Given the description of an element on the screen output the (x, y) to click on. 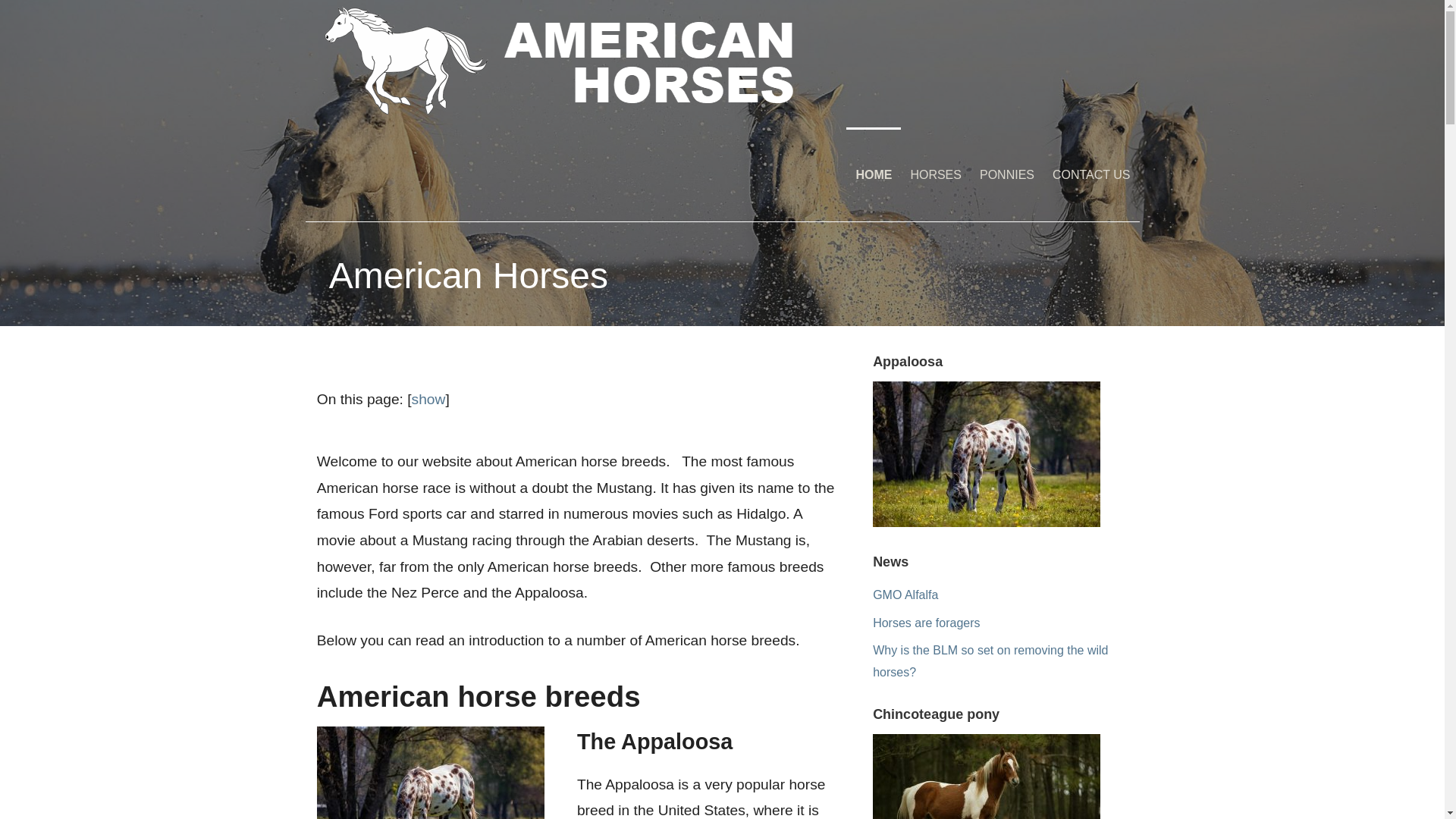
CONTACT US (1091, 174)
Why is the BLM so set on removing the wild horses? (990, 660)
show (428, 399)
Horses are foragers (925, 621)
GMO Alfalfa (904, 594)
